Given the description of an element on the screen output the (x, y) to click on. 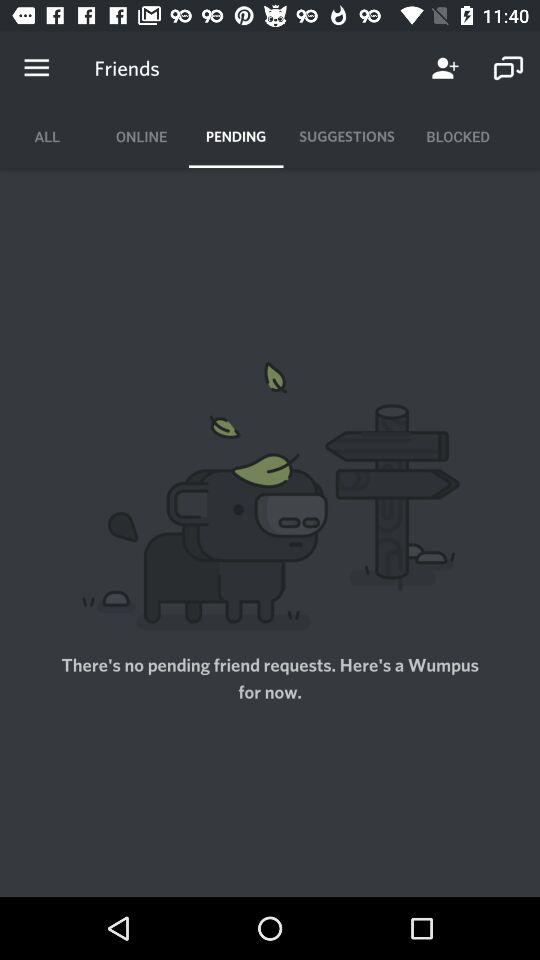
open the icon next to friends item (36, 68)
